Given the description of an element on the screen output the (x, y) to click on. 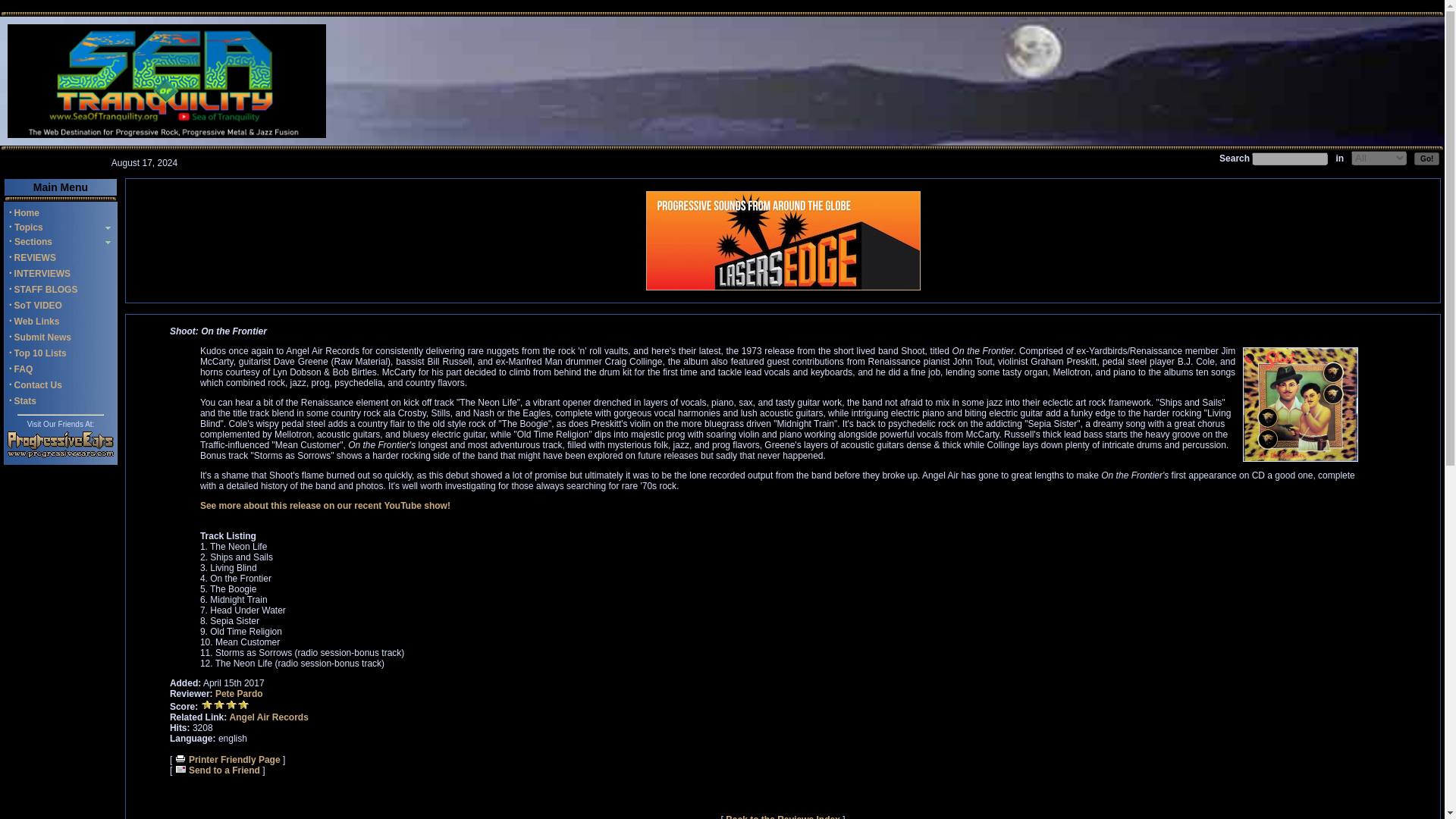
Topics (27, 226)
Submit News (42, 337)
Send to a Friend (217, 769)
FAQ (23, 368)
Web Links (36, 321)
Sections (31, 241)
Back to the Reviews Index (782, 816)
SoT VIDEO (38, 305)
Contact Us (38, 385)
Go! (1426, 158)
